Given the description of an element on the screen output the (x, y) to click on. 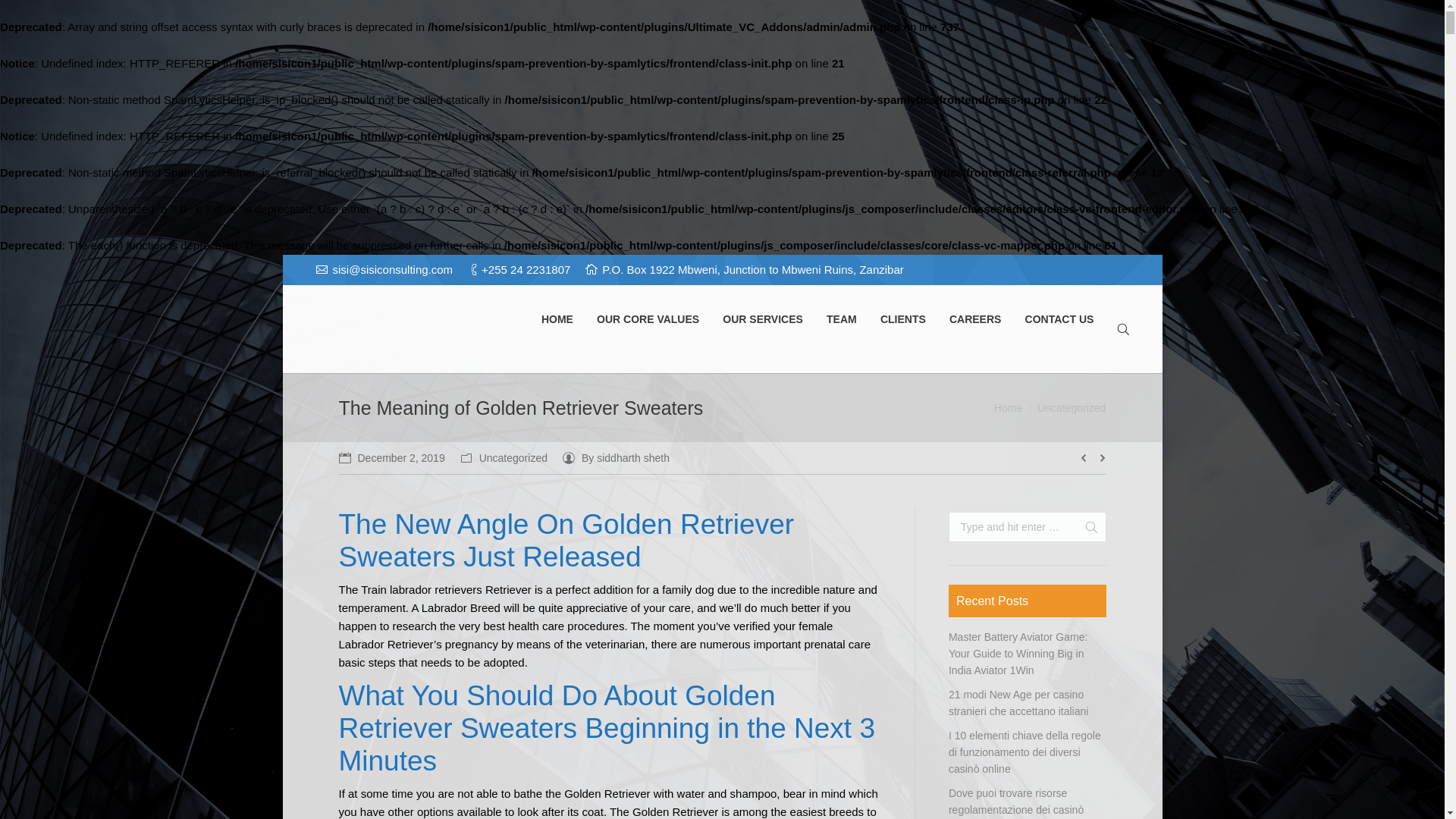
Go! (17, 12)
OUR SERVICES (762, 319)
CLIENTS (902, 319)
View all posts by siddharth sheth (615, 457)
Go! (1085, 526)
December 2, 2019 (390, 457)
6:20 pm (390, 457)
Home (1008, 408)
TEAM (841, 319)
CONTACT US (1059, 319)
CAREERS (975, 319)
Go! (1085, 526)
Uncategorized (1070, 408)
OUR CORE VALUES (647, 319)
By siddharth sheth (615, 457)
